Given the description of an element on the screen output the (x, y) to click on. 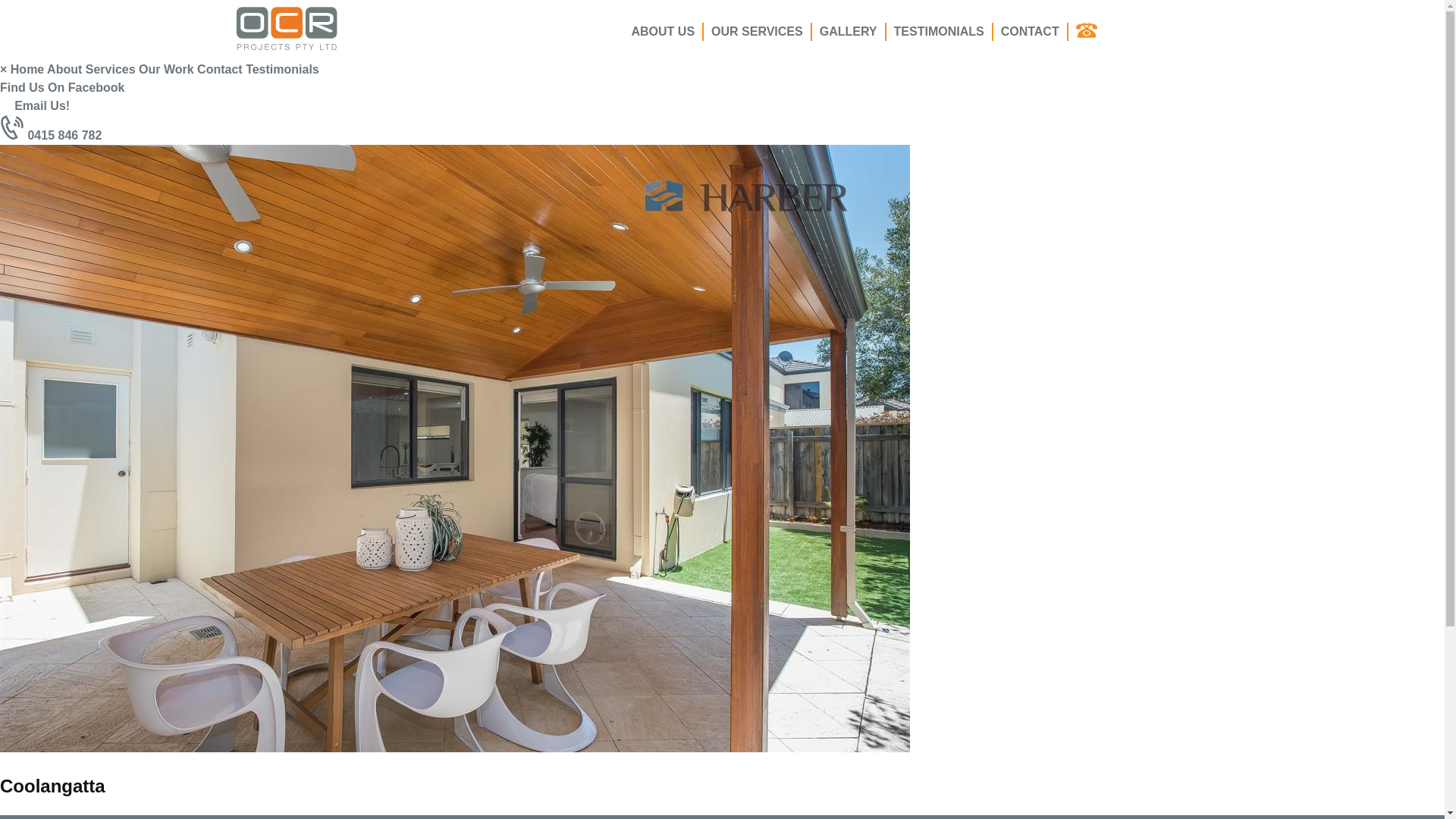
Contact Element type: text (219, 68)
ABOUT US Element type: text (663, 31)
About Element type: text (64, 68)
Testimonials Element type: text (282, 68)
GALLERY Element type: text (849, 31)
Email Us! Element type: text (34, 105)
OUR SERVICES Element type: text (757, 31)
Our Work Element type: text (167, 68)
Home Element type: text (26, 68)
0415 846 782 Element type: text (50, 134)
TESTIMONIALS Element type: text (939, 31)
Services Element type: text (110, 68)
CONTACT Element type: text (1030, 31)
Find Us On Facebook Element type: text (62, 87)
  Element type: text (1088, 31)
